Given the description of an element on the screen output the (x, y) to click on. 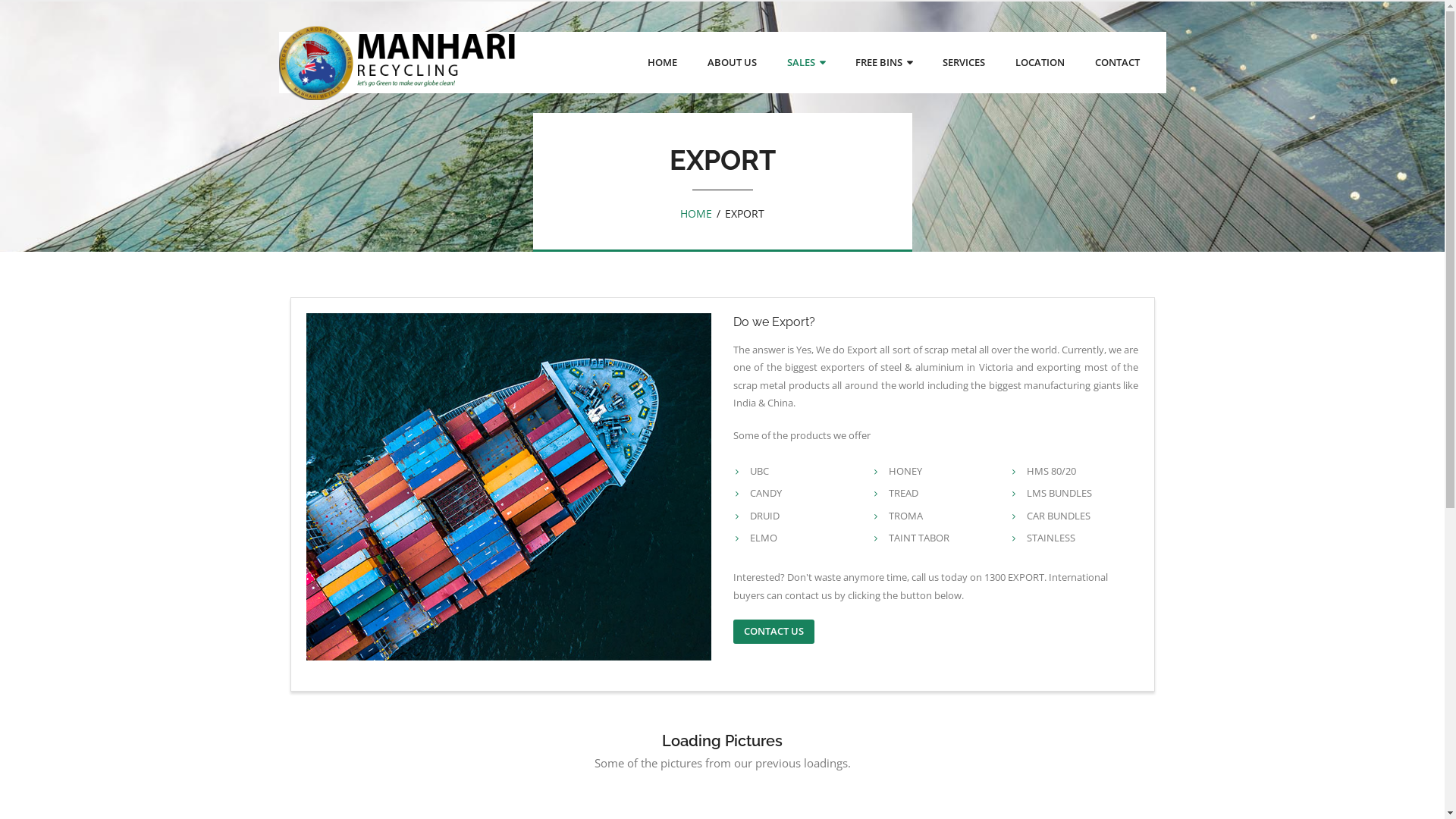
LOCATION Element type: text (1039, 62)
FREE BINS Element type: text (883, 62)
ABOUT US Element type: text (731, 62)
HOME Element type: text (662, 62)
SALES Element type: text (805, 62)
SERVICES Element type: text (962, 62)
CONTACT Element type: text (1116, 62)
HOME Element type: text (696, 213)
CONTACT US Element type: text (773, 631)
